Given the description of an element on the screen output the (x, y) to click on. 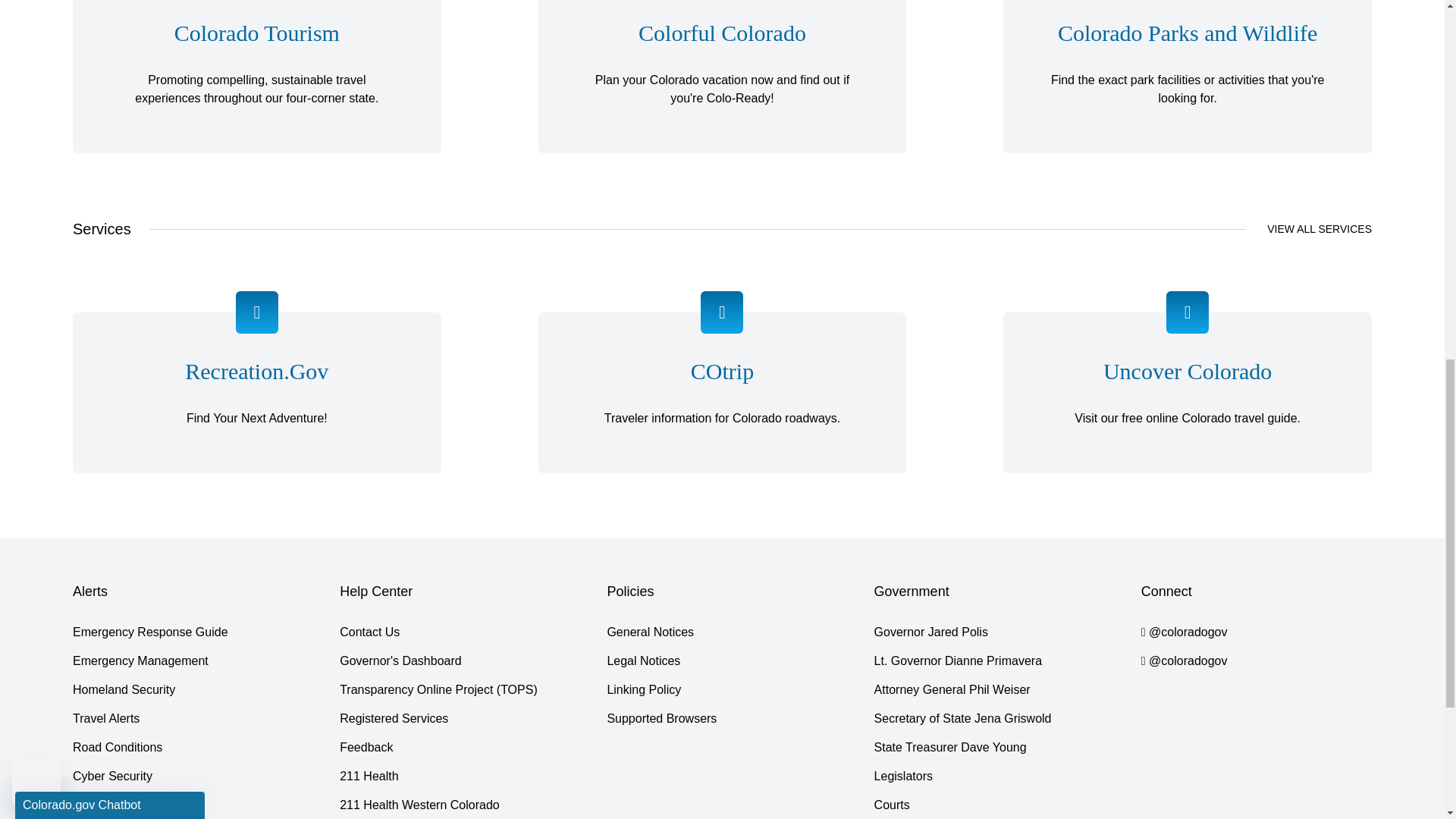
Cyber Security (112, 776)
Emergency Management (140, 660)
Governor's Dashboard (400, 660)
Travel Alerts (105, 719)
VIEW ALL SERVICES (1318, 228)
211 Health Western Colorado (419, 805)
Homeland Security (123, 689)
General Notices (650, 632)
Emergency Response Guide (150, 632)
Registered Services (393, 719)
Contact Us (368, 632)
